Given the description of an element on the screen output the (x, y) to click on. 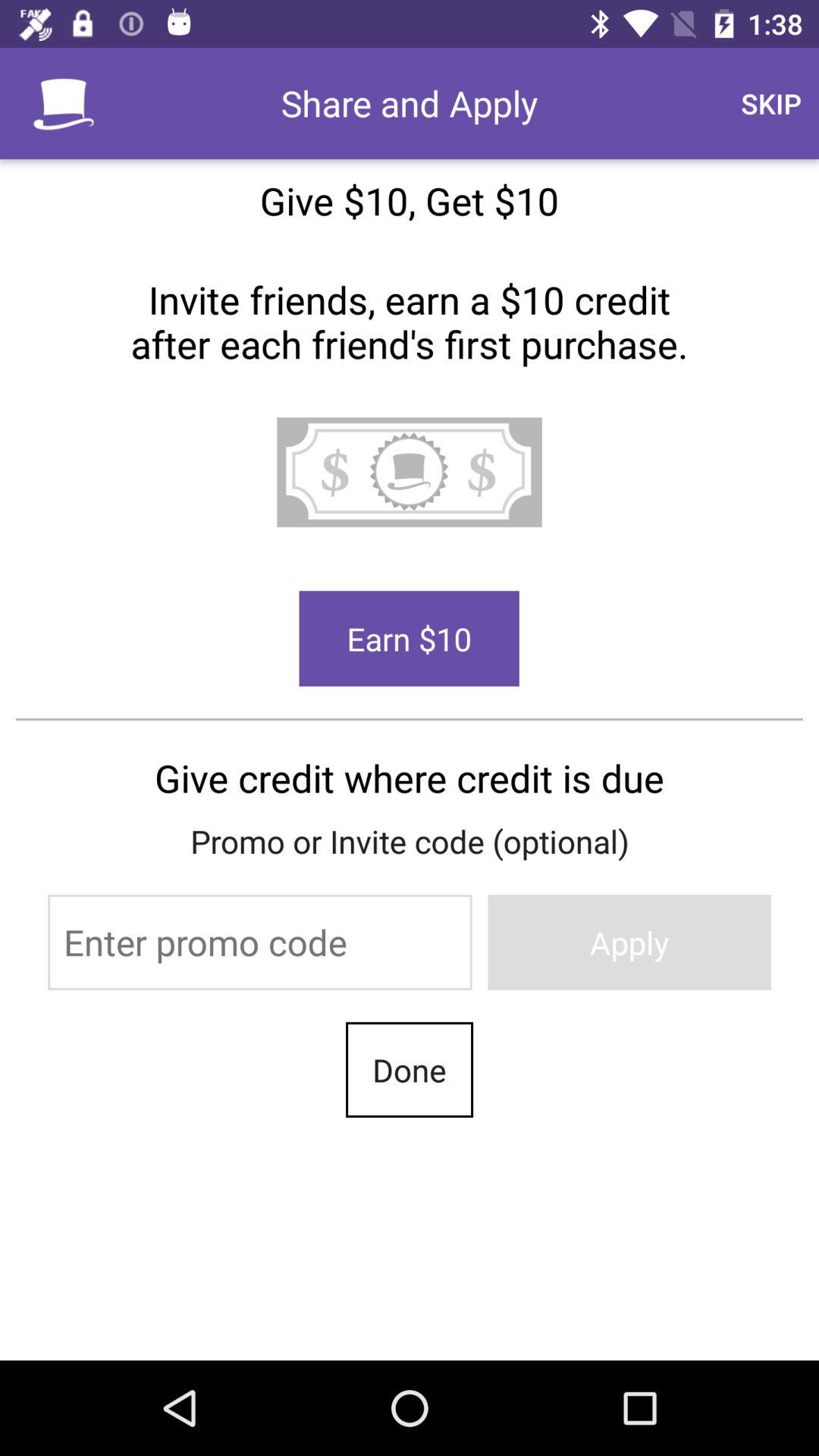
select the item to the right of the share and apply icon (771, 103)
